Given the description of an element on the screen output the (x, y) to click on. 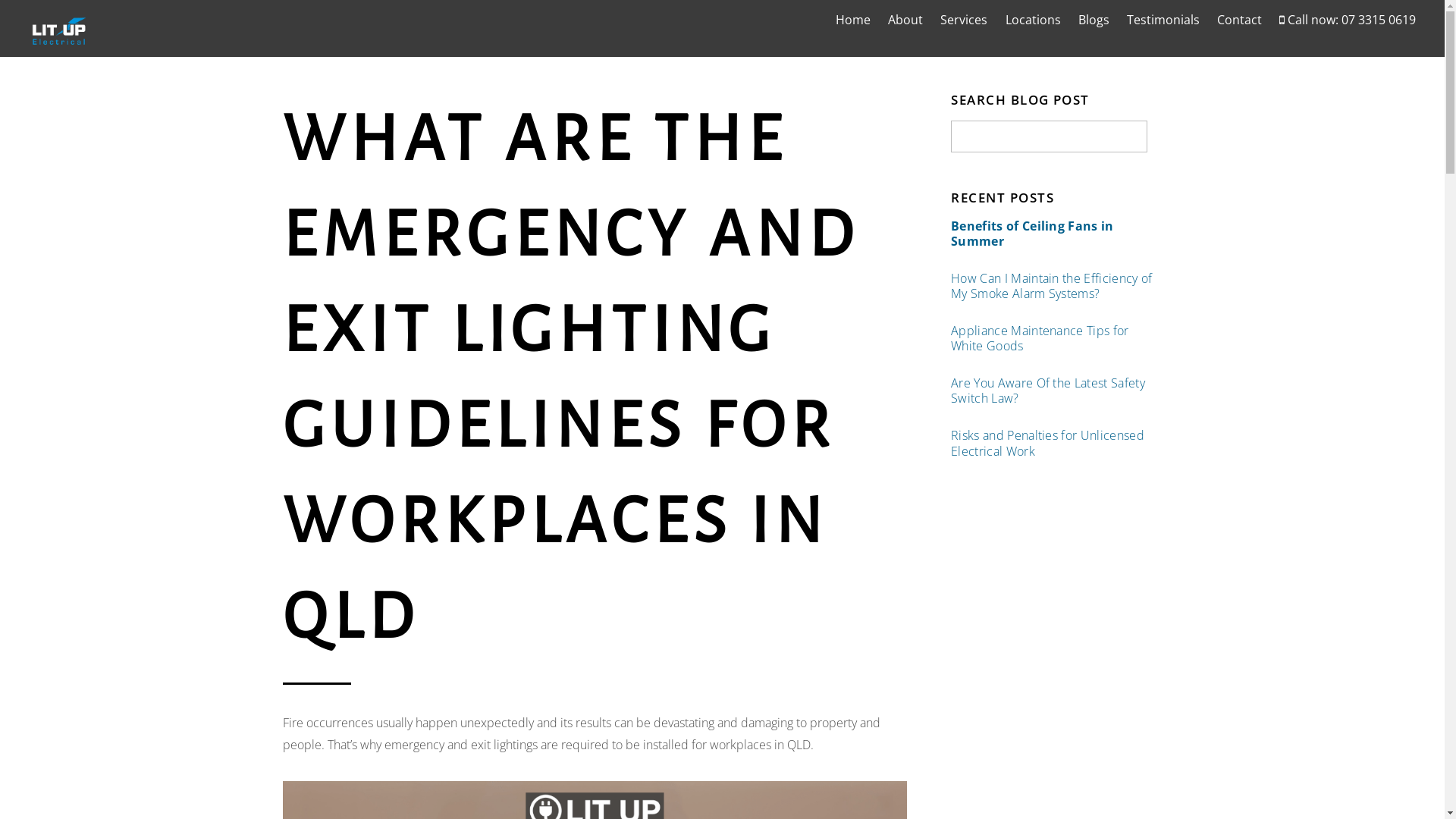
About Element type: text (905, 19)
Search Element type: hover (1048, 135)
Benefits of Ceiling Fans in Summer Element type: text (1055, 233)
Contact Element type: text (1239, 19)
Appliance Maintenance Tips for White Goods Element type: text (1055, 338)
Blogs Element type: text (1093, 19)
Lit Up Electrical Element type: hover (59, 42)
Call now: 07 3315 0619 Element type: text (1347, 19)
Risks and Penalties for Unlicensed Electrical Work Element type: text (1055, 442)
Services Element type: text (963, 19)
Locations Element type: text (1032, 19)
Are You Aware Of the Latest Safety Switch Law? Element type: text (1055, 390)
How Can I Maintain the Efficiency of My Smoke Alarm Systems? Element type: text (1055, 285)
Home Element type: text (852, 19)
Testimonials Element type: text (1162, 19)
Lit Up Electrical Element type: hover (59, 30)
